Given the description of an element on the screen output the (x, y) to click on. 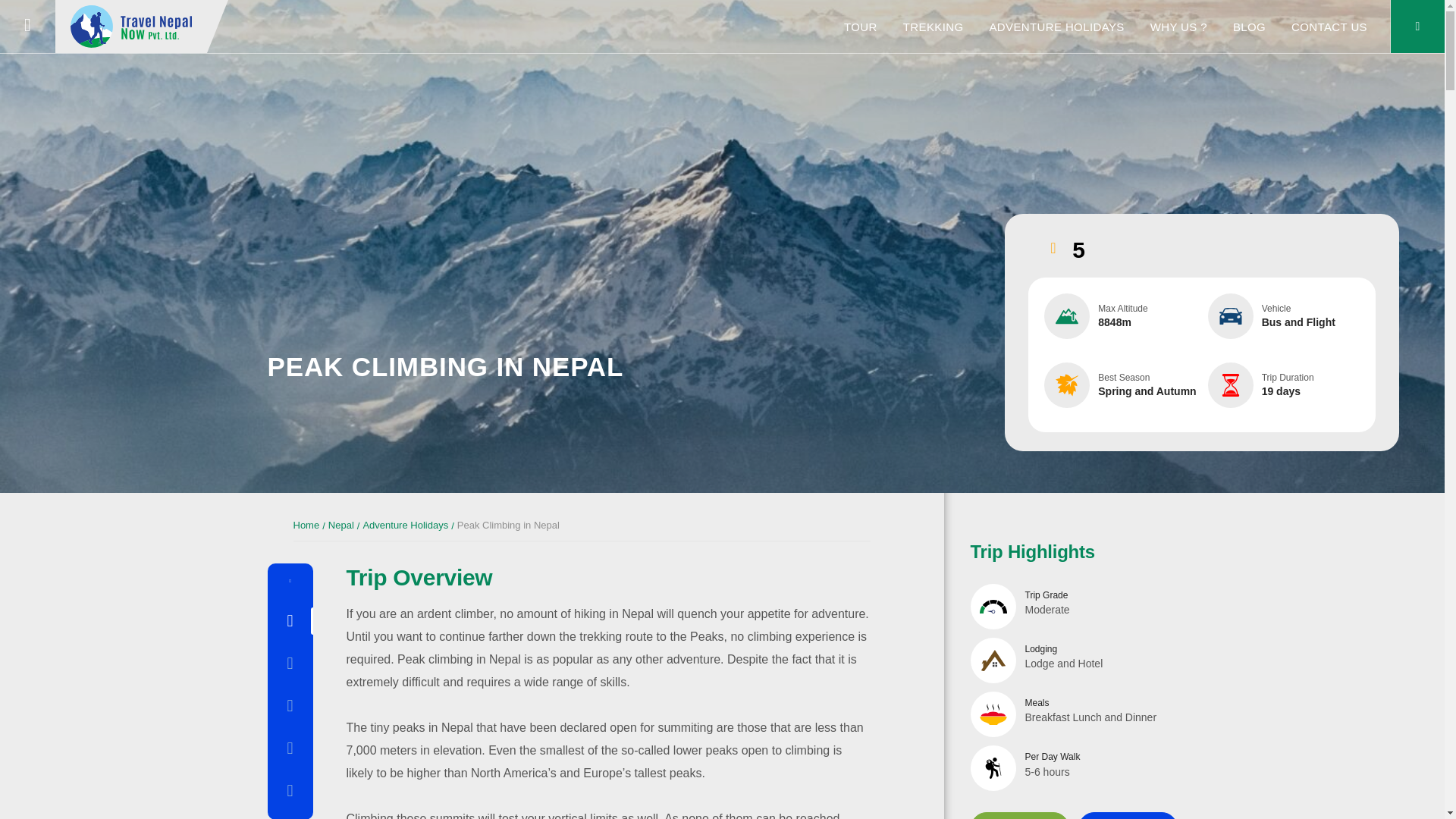
Trip FAQ (289, 790)
Nepal (341, 524)
TREKKING (932, 26)
CONTACT US (1329, 26)
BLOG (1249, 26)
Adventure Holidays (405, 524)
WHY US ? (1178, 26)
Home (305, 524)
Enquire Now (1127, 815)
ADVENTURE HOLIDAYS (1056, 26)
Book Now (1020, 815)
Itinerary (289, 663)
TOUR (860, 26)
Overview (289, 620)
Useful Info (289, 748)
